Given the description of an element on the screen output the (x, y) to click on. 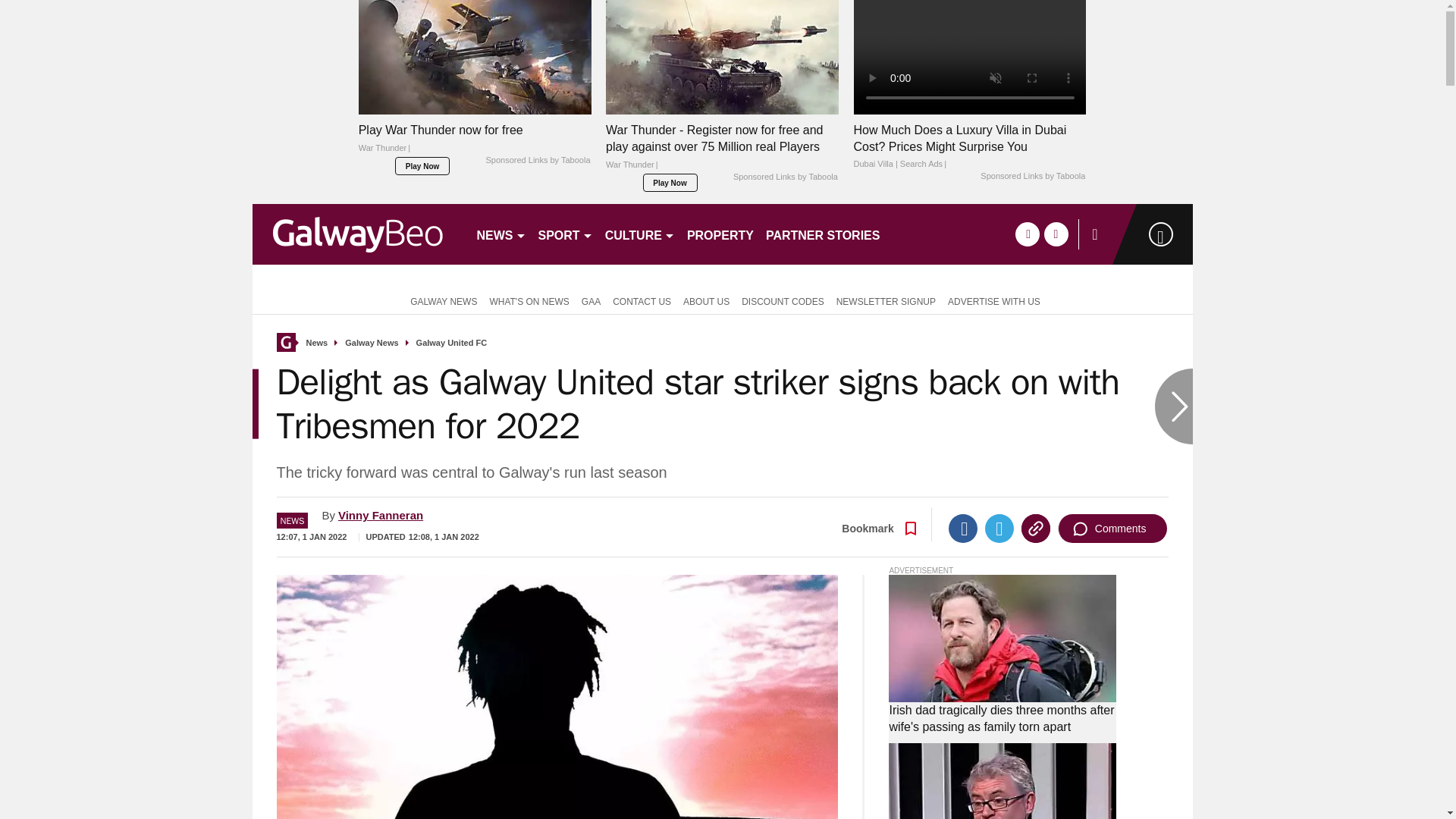
PROPERTY (720, 233)
Comments (1112, 528)
Facebook (962, 528)
Play War Thunder now for free (474, 143)
CULTURE (639, 233)
NEWS (500, 233)
SPORT (565, 233)
Sponsored Links by Taboola (536, 160)
galwaybeo (357, 233)
facebook (1026, 233)
twitter (1055, 233)
Sponsored Links by Taboola (785, 176)
